Given the description of an element on the screen output the (x, y) to click on. 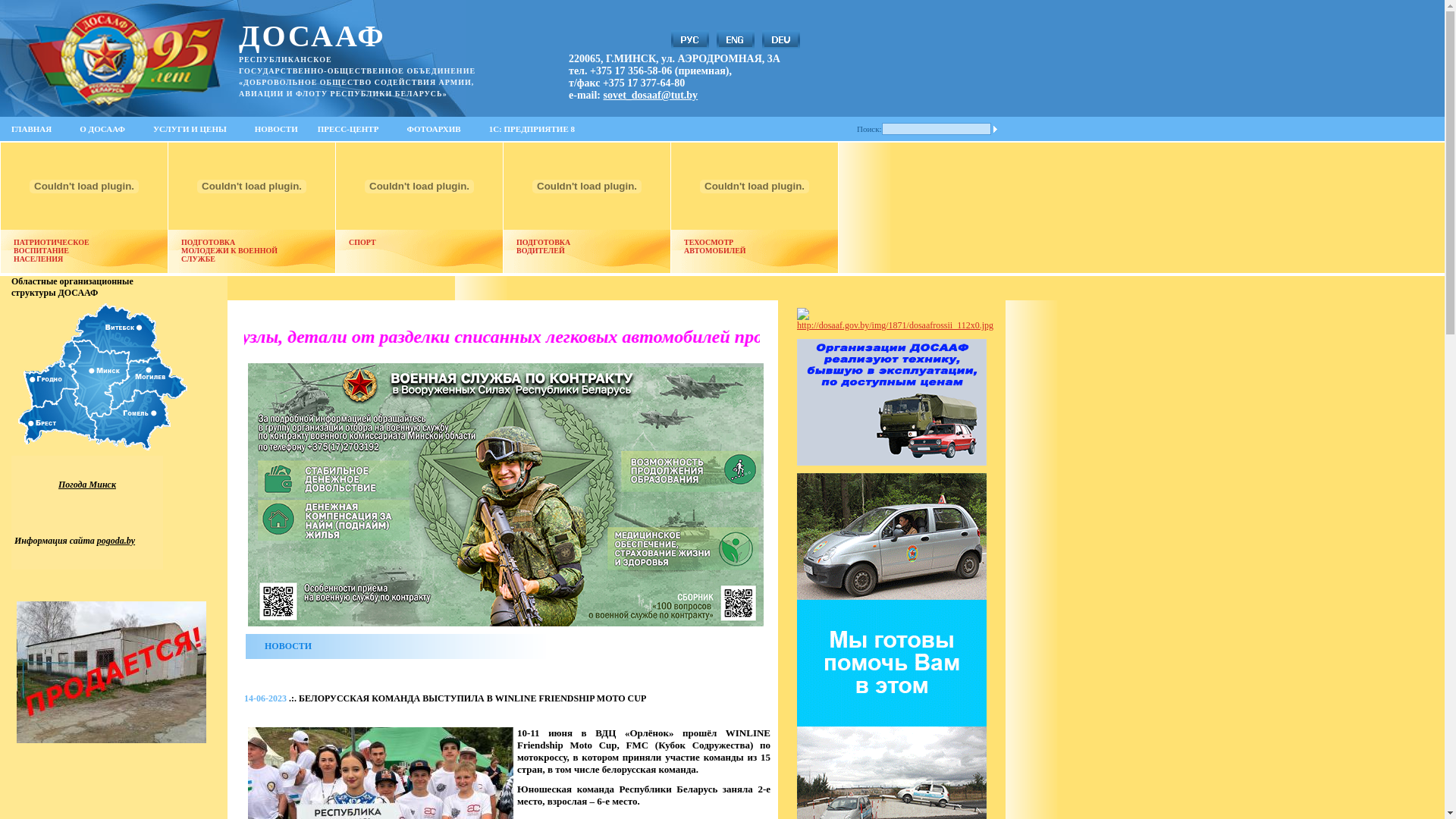
Deutsch Element type: hover (781, 39)
sovet_dosaaf@tut.by Element type: text (649, 94)
pogoda.by Element type: text (115, 540)
English Element type: hover (735, 39)
